Given the description of an element on the screen output the (x, y) to click on. 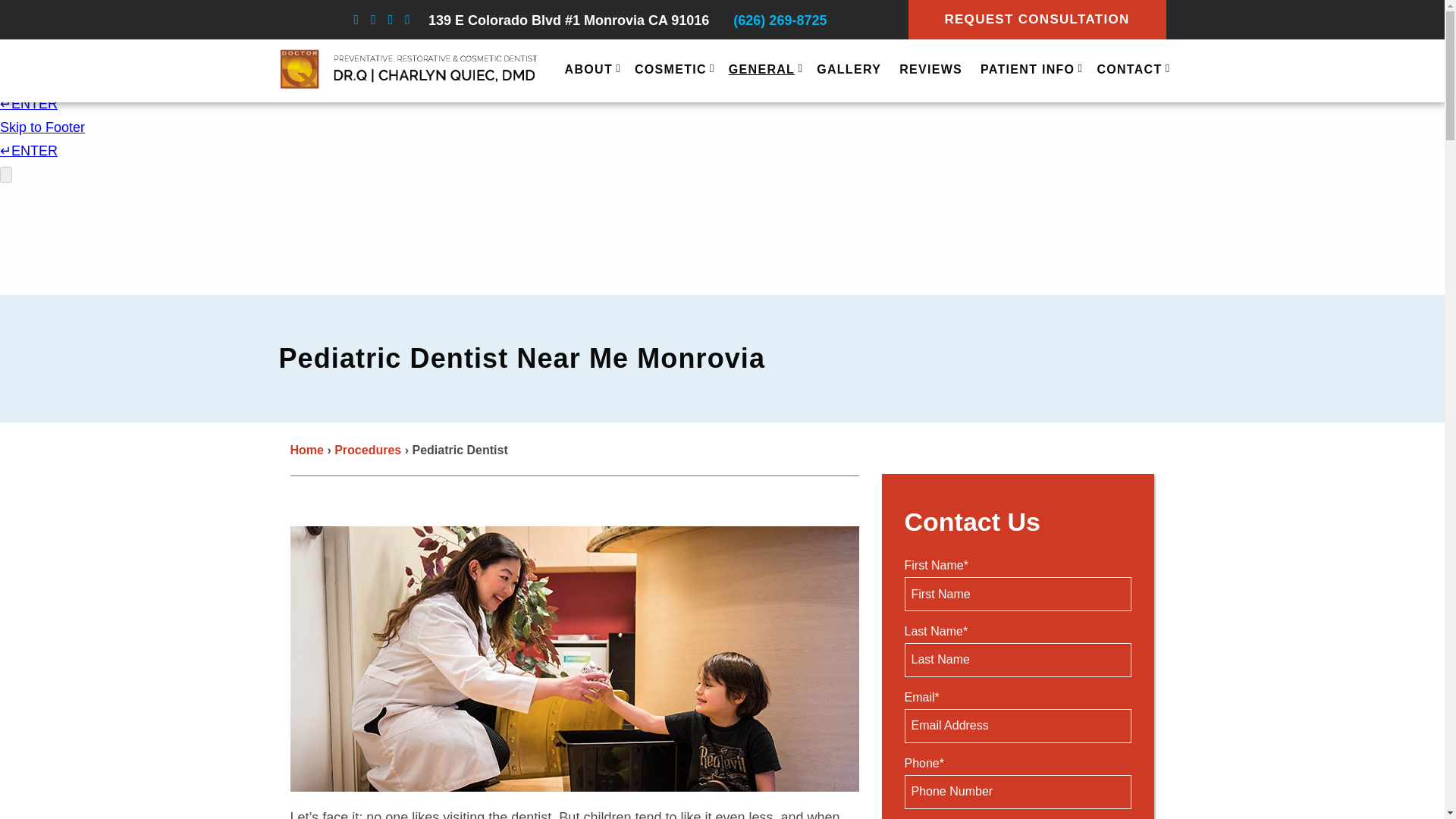
REQUEST CONSULTATION (1037, 19)
ABOUT (589, 70)
GENERAL (763, 70)
Home (306, 449)
COSMETIC (672, 70)
REVIEWS (930, 70)
Procedures (367, 449)
PATIENT INFO (1028, 70)
GALLERY (848, 70)
